Given the description of an element on the screen output the (x, y) to click on. 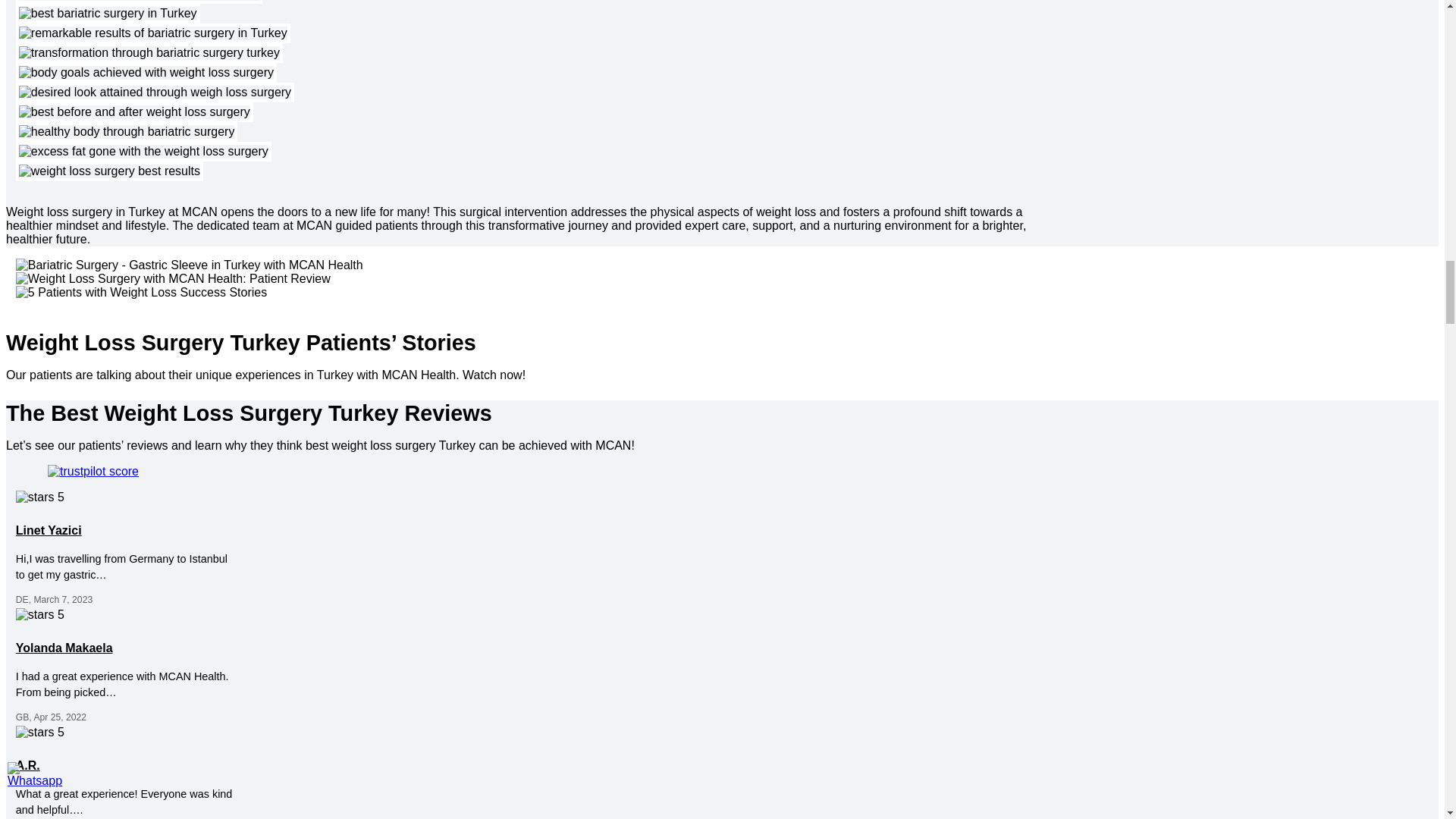
Weight Loss Surgery Turkey 17 weight loss surgery15 (146, 72)
Weight Loss Surgery Turkey 14 weight loss surgery13 (108, 13)
Weight Loss Surgery Turkey 19 weight loss surgery17 (134, 112)
Weight Loss Surgery Turkey 18 weight loss surgery16 (155, 92)
Weight Loss Surgery Turkey 13 weight loss surgery12 (139, 2)
Weight Loss Surgery Turkey 15 weight loss surgery2 (152, 33)
Weight Loss Surgery Turkey 16 weight loss surgery14 (149, 53)
